Given the description of an element on the screen output the (x, y) to click on. 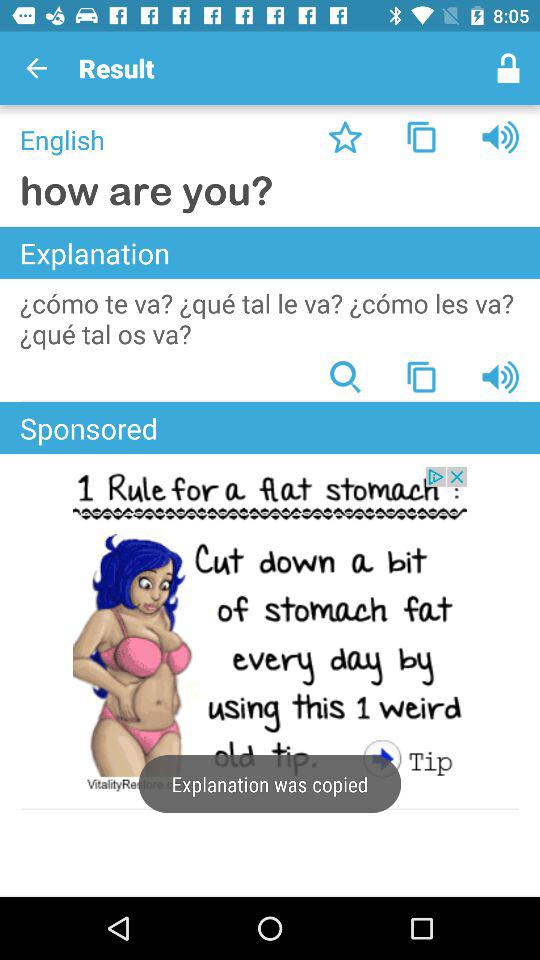
turn off the icon to the left of result app (36, 68)
